Given the description of an element on the screen output the (x, y) to click on. 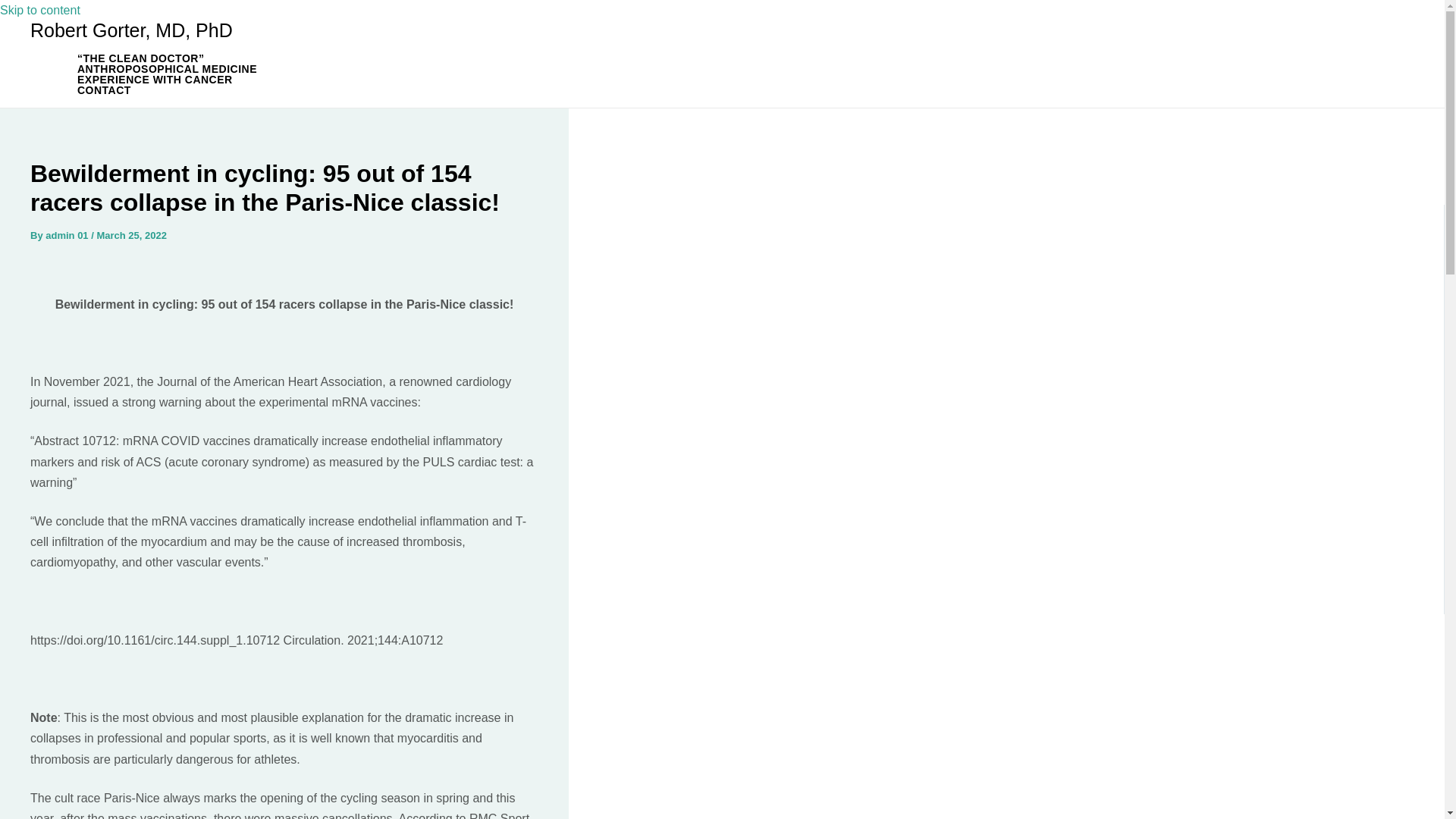
Robert Gorter, MD, PhD (131, 29)
CONTACT (167, 90)
Skip to content (40, 10)
EXPERIENCE WITH CANCER (167, 79)
ANTHROPOSOPHICAL MEDICINE (167, 68)
Skip to content (40, 10)
admin 01 (67, 235)
View all posts by admin 01 (67, 235)
